Given the description of an element on the screen output the (x, y) to click on. 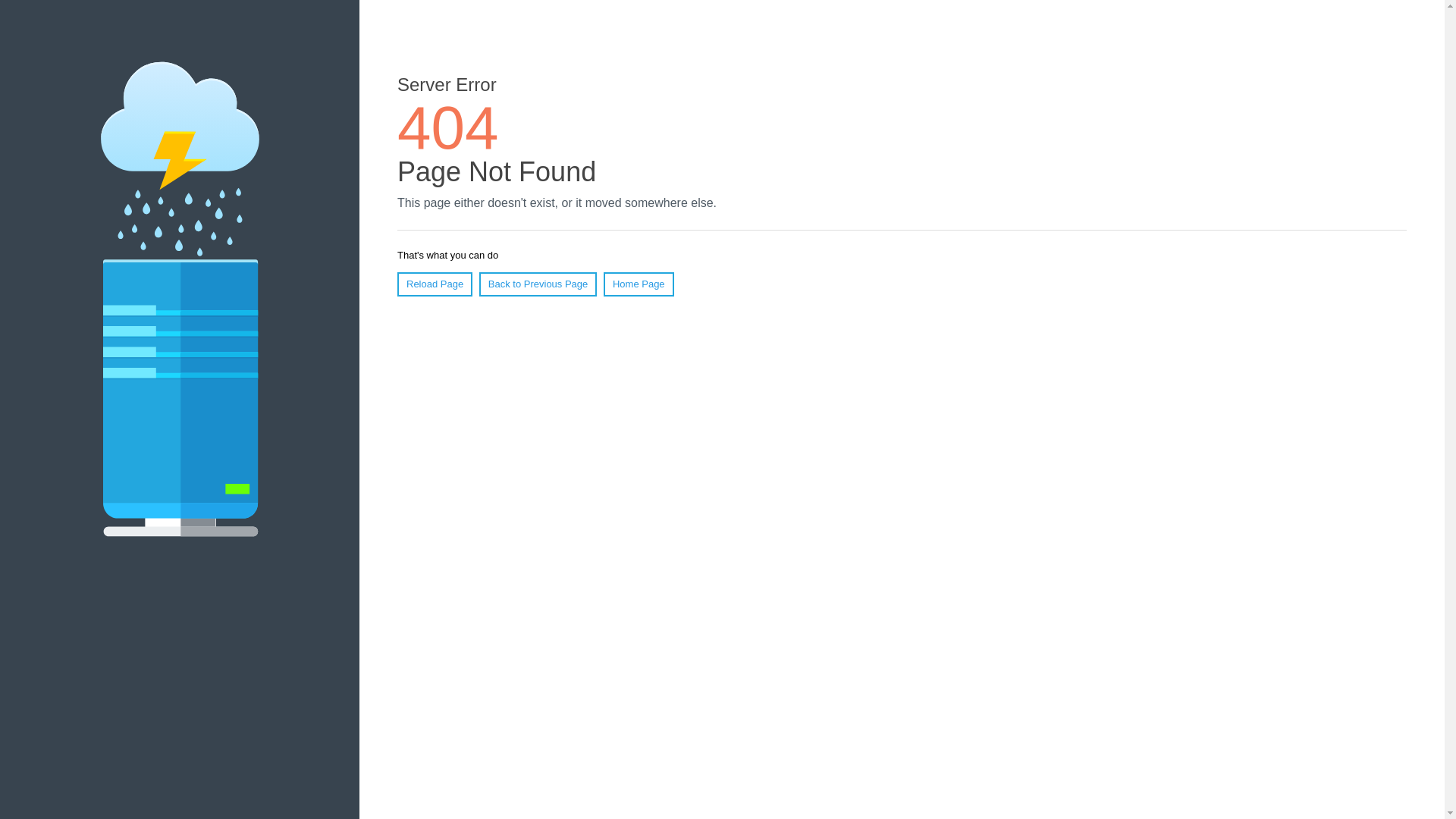
Back to Previous Page Element type: text (538, 284)
Reload Page Element type: text (434, 284)
Home Page Element type: text (638, 284)
